Given the description of an element on the screen output the (x, y) to click on. 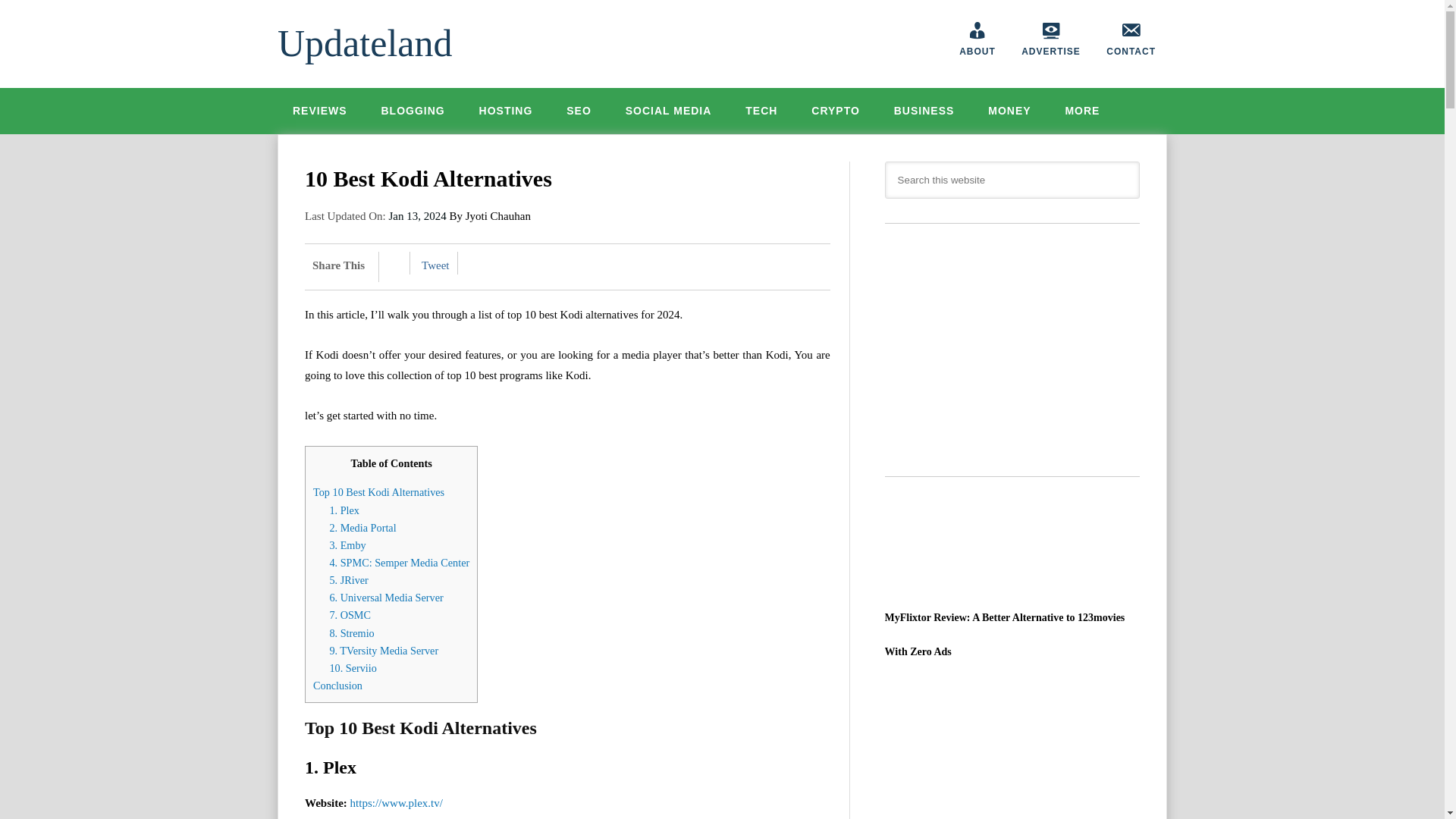
CONTACT (1130, 38)
ADVERTISE (1051, 38)
Updateland (364, 43)
ABOUT (977, 38)
